Given the description of an element on the screen output the (x, y) to click on. 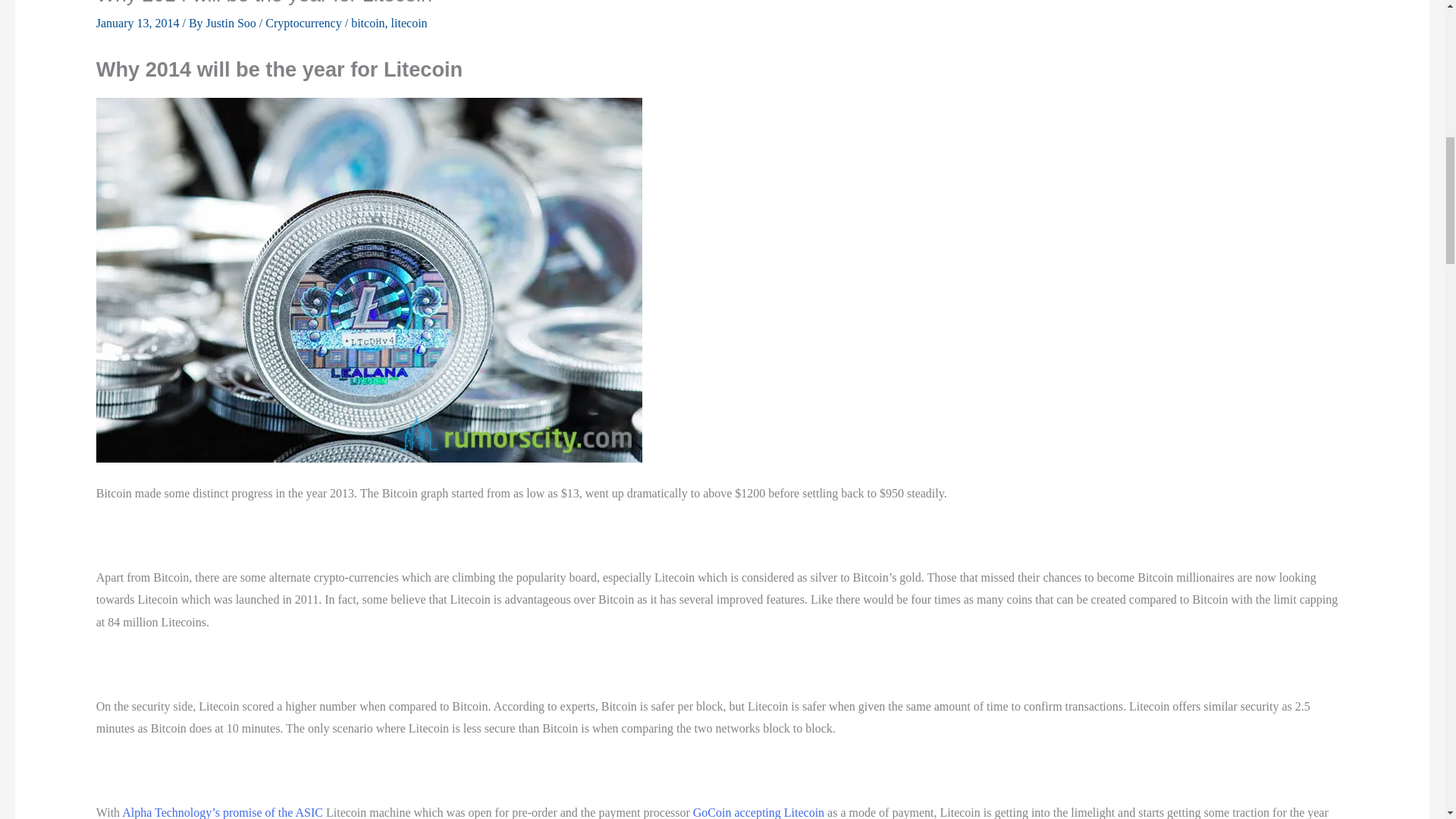
Cryptocurrency (302, 22)
Justin Soo (232, 22)
View all posts by Justin Soo (232, 22)
